Given the description of an element on the screen output the (x, y) to click on. 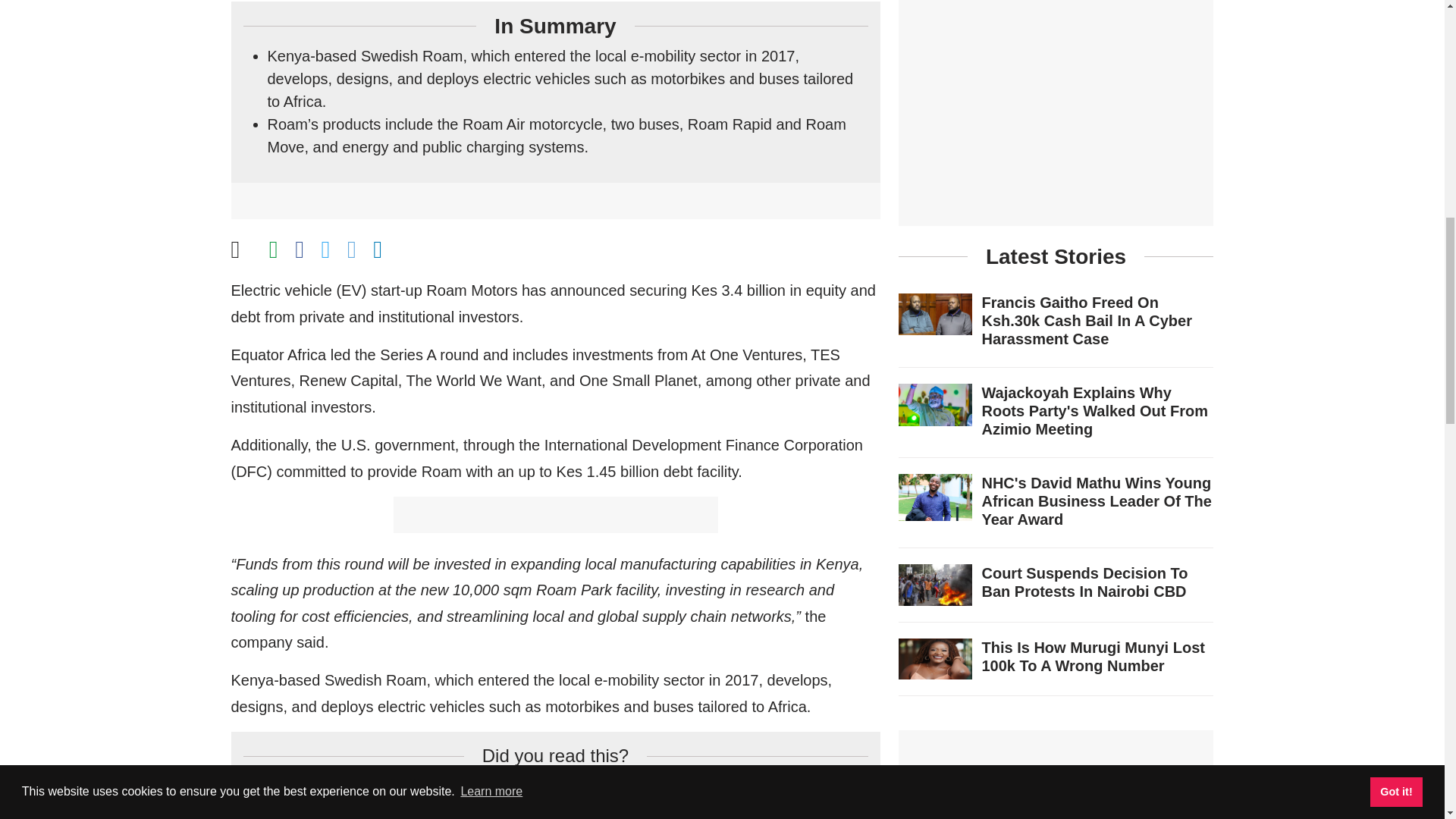
Share via Linked (376, 250)
Chinese Automotive Company, Neta Enters Kenyan Market (464, 811)
Chinese Automotive Company, Neta Enters Kenyan Market (464, 811)
Share via Telegram (351, 250)
Share via Facebook (299, 250)
MOGO Injects Kes1Billion In Electric Vehicle Financing (451, 786)
MOGO Injects Kes1Billion In Electric Vehicle Financing (451, 786)
Share via Twitter (325, 250)
Share via Whatsapp (273, 250)
